Given the description of an element on the screen output the (x, y) to click on. 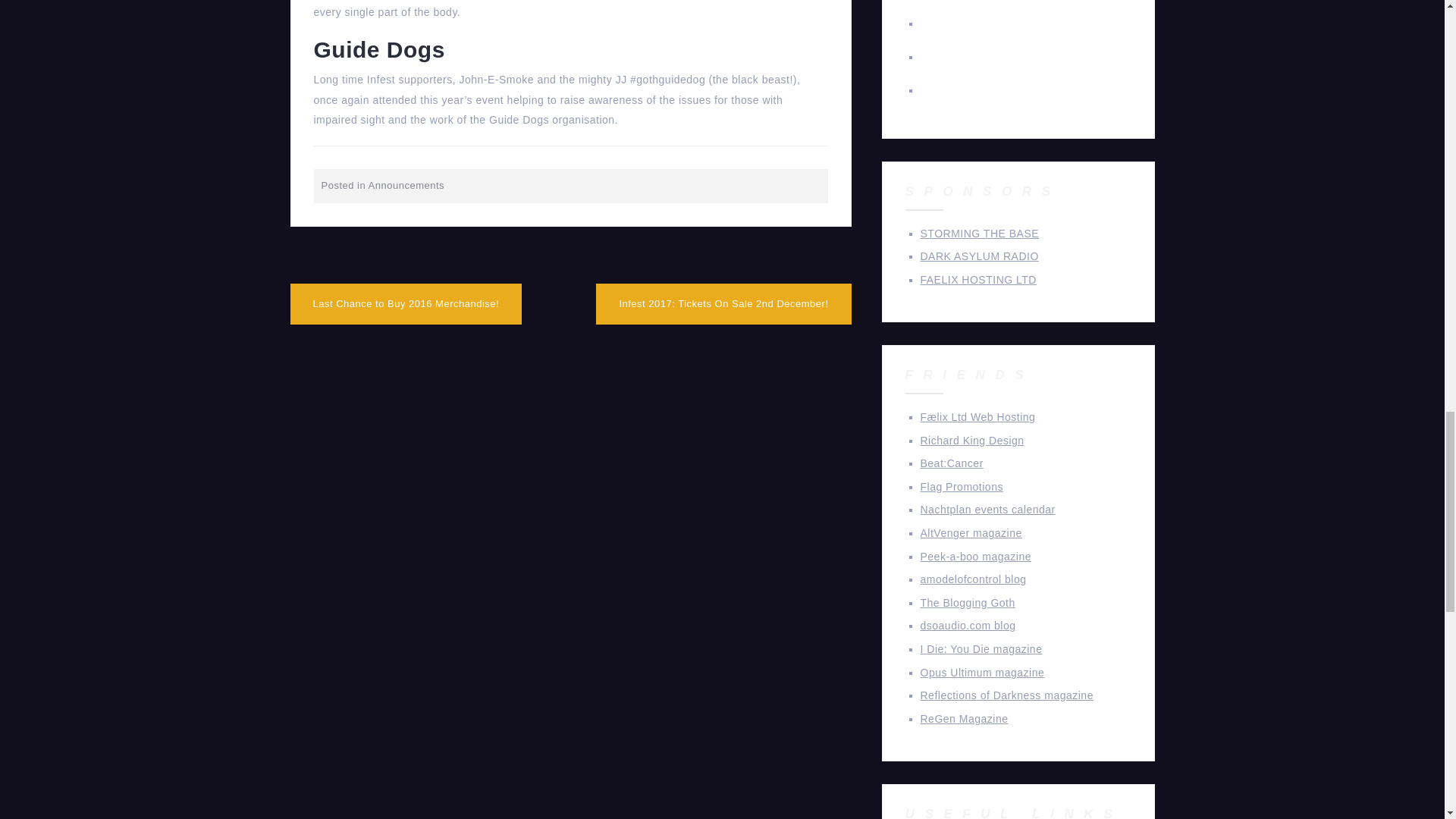
DARK ASYLUM RADIO (979, 256)
Announcements (406, 184)
Last Chance to Buy 2016 Merchandise! (405, 304)
STORMING THE BASE (979, 233)
Infest 2017: Tickets On Sale 2nd December! (722, 304)
